Given the description of an element on the screen output the (x, y) to click on. 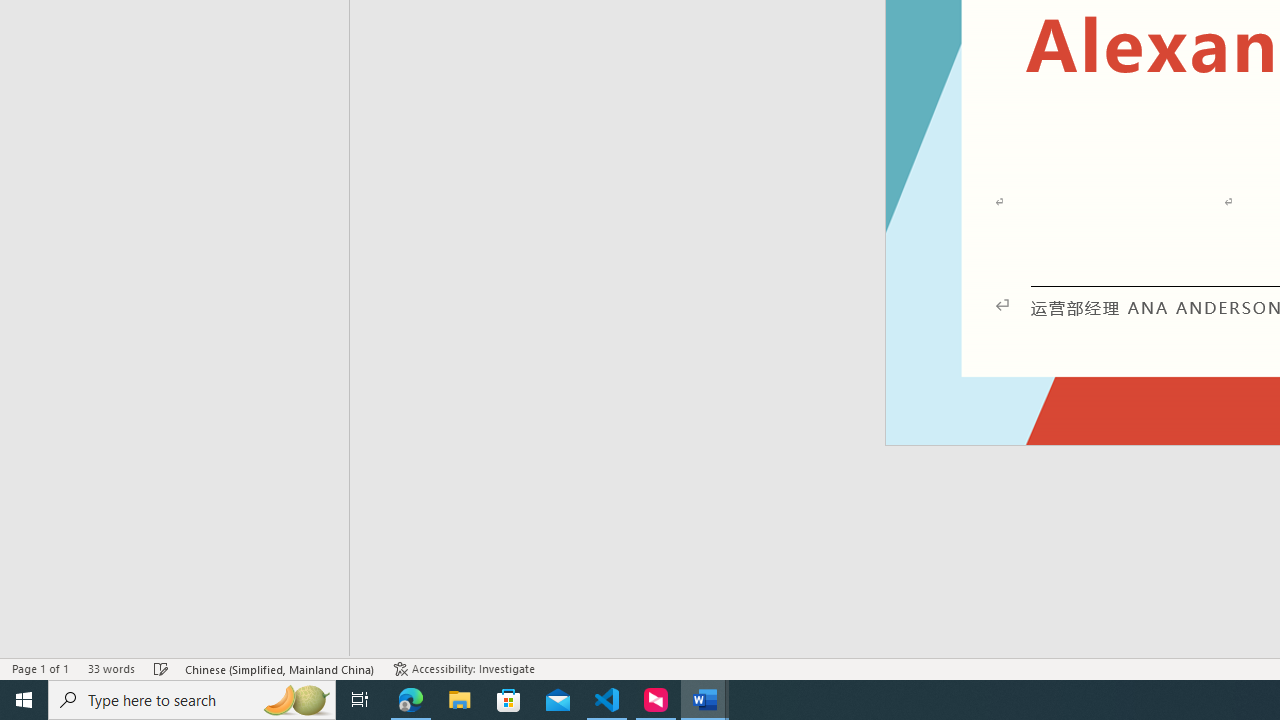
Page Number Page 1 of 1 (39, 668)
